Given the description of an element on the screen output the (x, y) to click on. 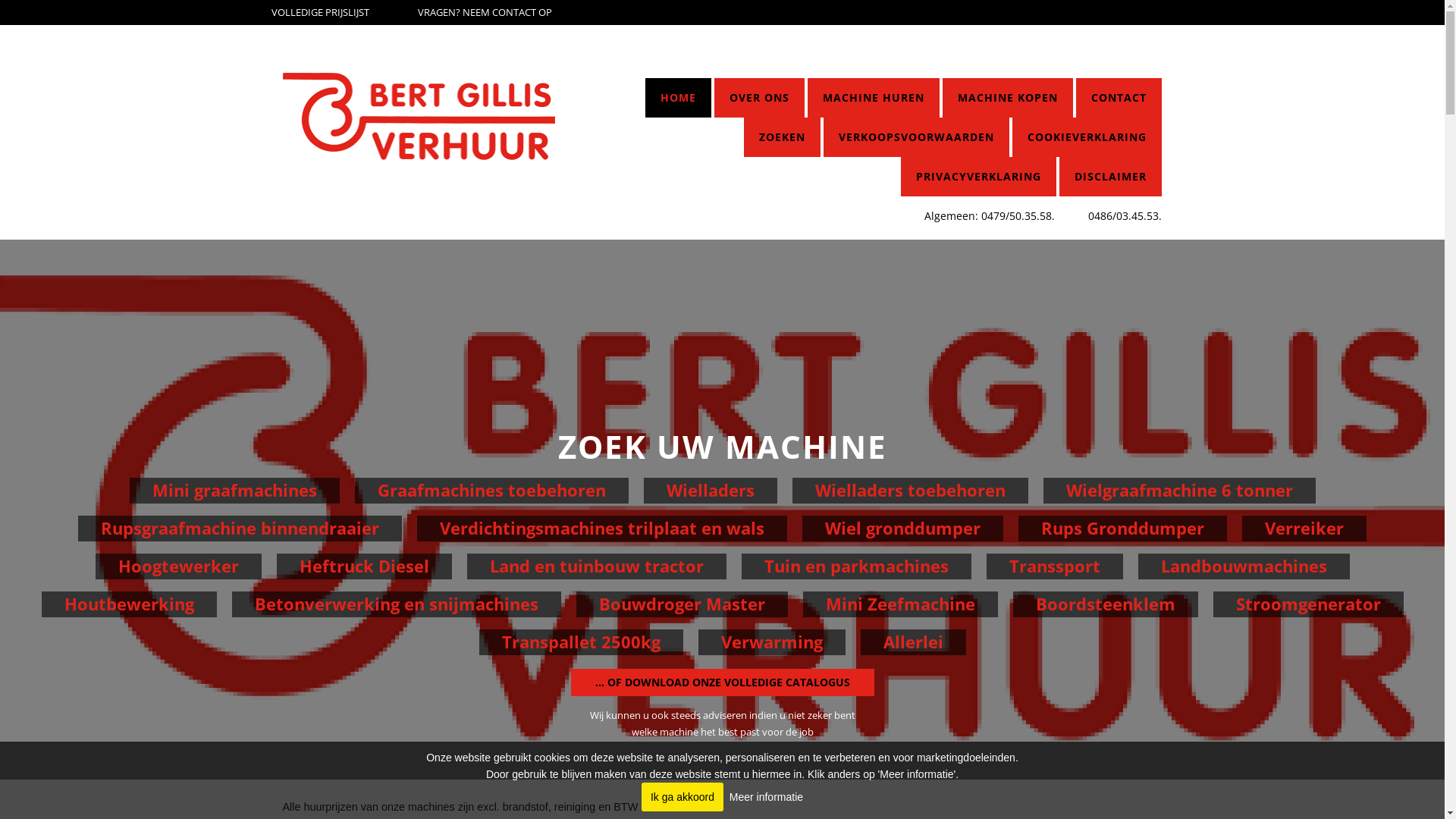
Mini graafmachines Element type: text (233, 490)
Houtbewerking Element type: text (128, 604)
Land en tuinbouw tractor Element type: text (596, 566)
Allerlei Element type: text (912, 642)
HOME Element type: text (678, 97)
VRAGEN? NEEM CONTACT OP Element type: text (484, 12)
Boordsteenklem Element type: text (1105, 604)
Hoogtewerker Element type: text (178, 566)
VERKOOPSVOORWAARDEN Element type: text (916, 136)
Ik ga akkoord Element type: text (682, 796)
Betonverwerking en snijmachines Element type: text (396, 604)
ZOEKEN Element type: text (781, 136)
Transsport Element type: text (1053, 566)
MACHINE HUREN Element type: text (873, 97)
Landbouwmachines Element type: text (1243, 566)
Wielladers Element type: text (709, 490)
0486/03.45.53. Element type: text (1124, 215)
Meer informatie Element type: text (766, 796)
Mini Zeefmachine Element type: text (899, 604)
Verreiker Element type: text (1304, 528)
Graafmachines toebehoren Element type: text (491, 490)
OVER ONS Element type: text (759, 97)
Transpallet 2500kg Element type: text (581, 642)
Wielladers toebehoren Element type: text (909, 490)
CONTACT Element type: text (1118, 97)
Verwarming Element type: text (770, 642)
Stroomgenerator Element type: text (1308, 604)
Verdichtingsmachines trilplaat en wals Element type: text (602, 528)
COOKIEVERKLARING Element type: text (1086, 136)
DISCLAIMER Element type: text (1110, 176)
Heftruck Diesel Element type: text (363, 566)
Algemeen: 0479/50.35.58. Element type: text (989, 215)
VOLLEDIGE PRIJSLIJST Element type: text (319, 12)
Tuin en parkmachines Element type: text (856, 566)
PRIVACYVERKLARING Element type: text (978, 176)
Wiel gronddumper Element type: text (902, 528)
Wielgraafmachine 6 tonner Element type: text (1179, 490)
Rupsgraafmachine binnendraaier Element type: text (239, 528)
Rups Gronddumper Element type: text (1122, 528)
... OF DOWNLOAD ONZE VOLLEDIGE CATALOGUS Element type: text (721, 682)
MACHINE KOPEN Element type: text (1007, 97)
Bouwdroger Master Element type: text (681, 604)
